Given the description of an element on the screen output the (x, y) to click on. 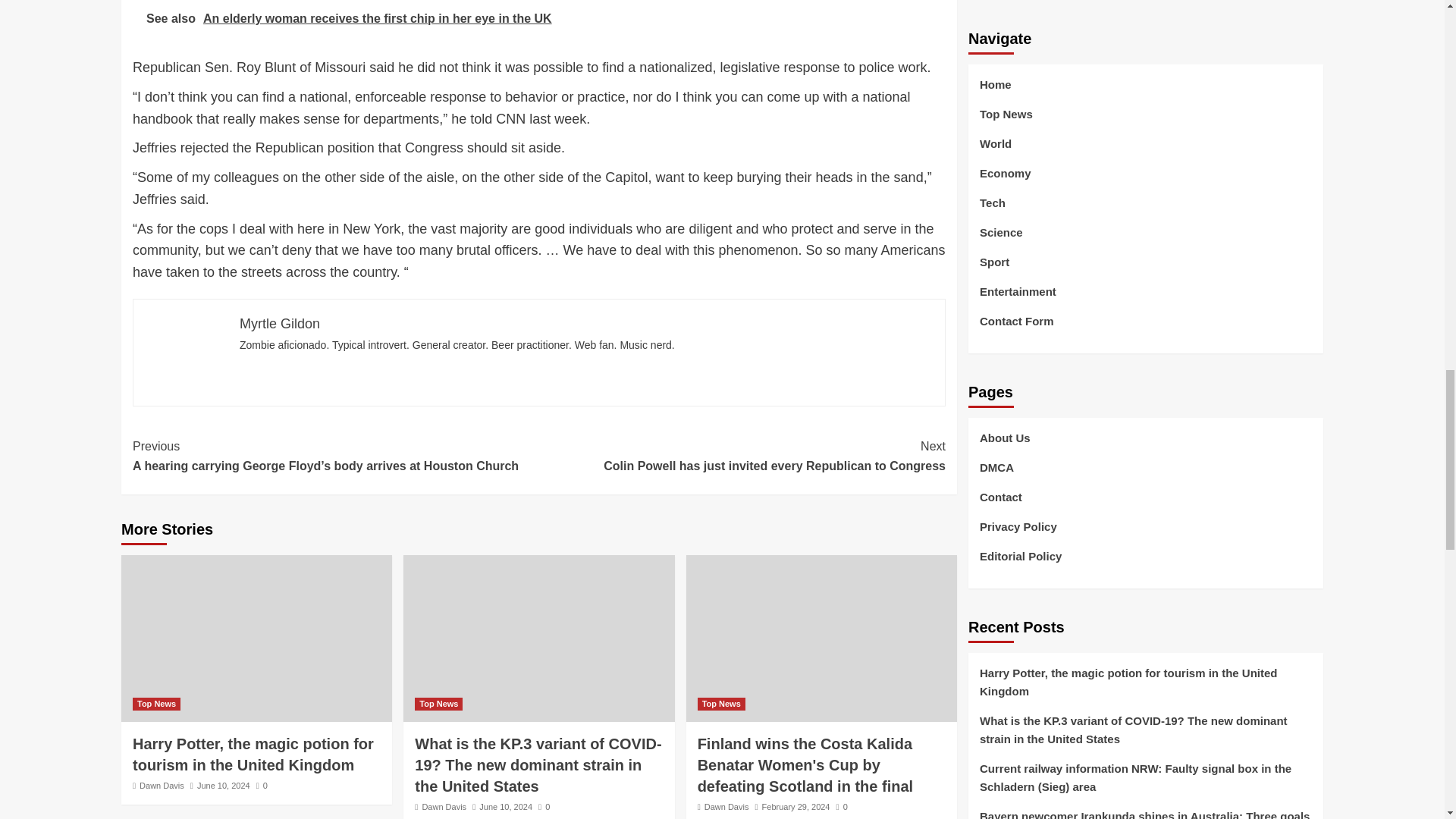
0 (544, 806)
Top News (156, 703)
June 10, 2024 (223, 785)
Dawn Davis (161, 785)
Myrtle Gildon (280, 323)
0 (261, 785)
Dawn Davis (443, 806)
Top News (721, 703)
Top News (438, 703)
June 10, 2024 (505, 806)
